Given the description of an element on the screen output the (x, y) to click on. 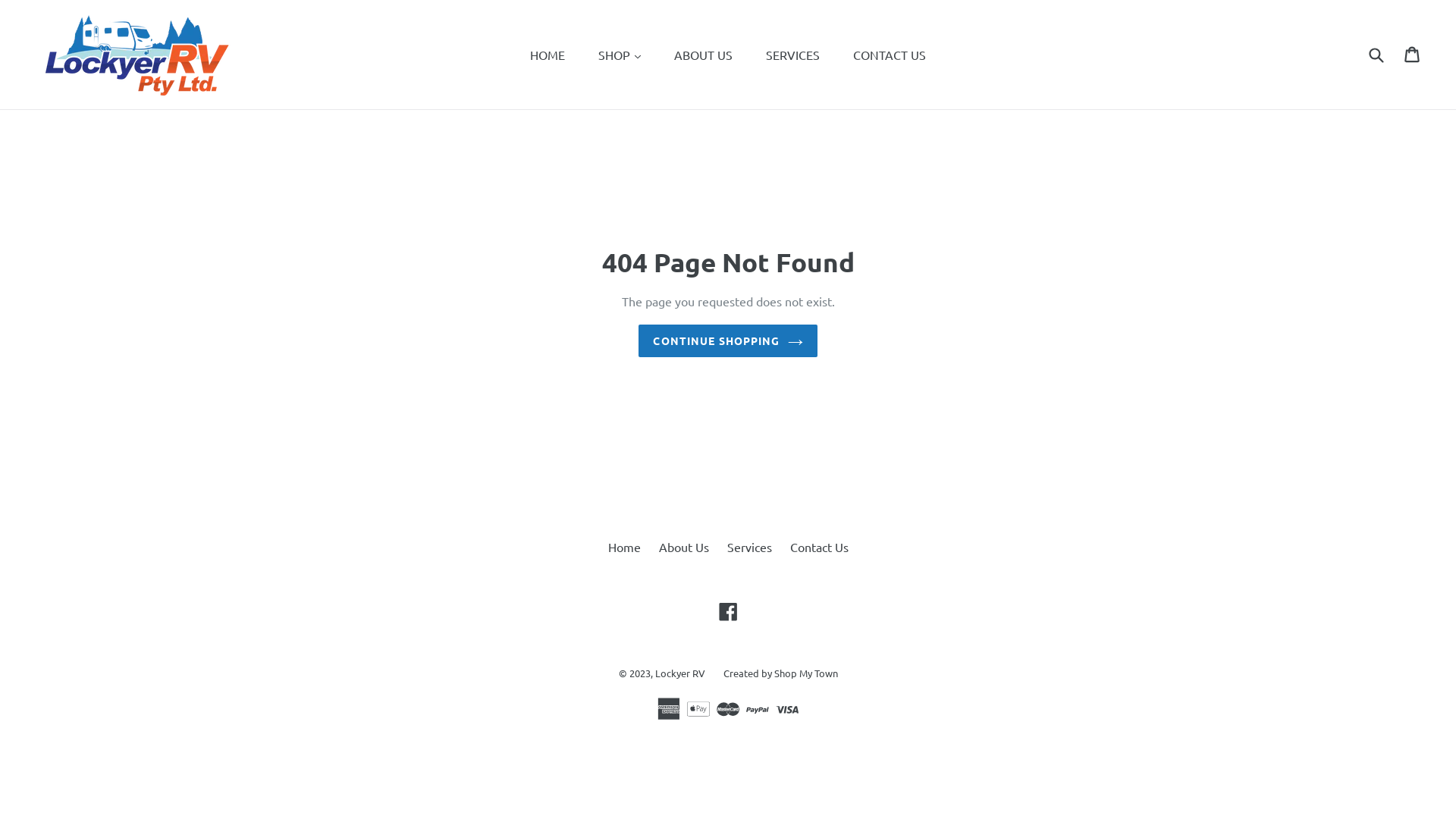
SERVICES Element type: text (792, 54)
Home Element type: text (624, 546)
Cart
Cart Element type: text (1412, 54)
CONTACT US Element type: text (889, 54)
About Us Element type: text (683, 546)
Submit Element type: text (1375, 53)
Contact Us Element type: text (819, 546)
HOME Element type: text (547, 54)
Services Element type: text (748, 546)
CONTINUE SHOPPING Element type: text (727, 340)
Lockyer RV Element type: text (680, 672)
ABOUT US Element type: text (702, 54)
Facebook Element type: text (727, 610)
